Given the description of an element on the screen output the (x, y) to click on. 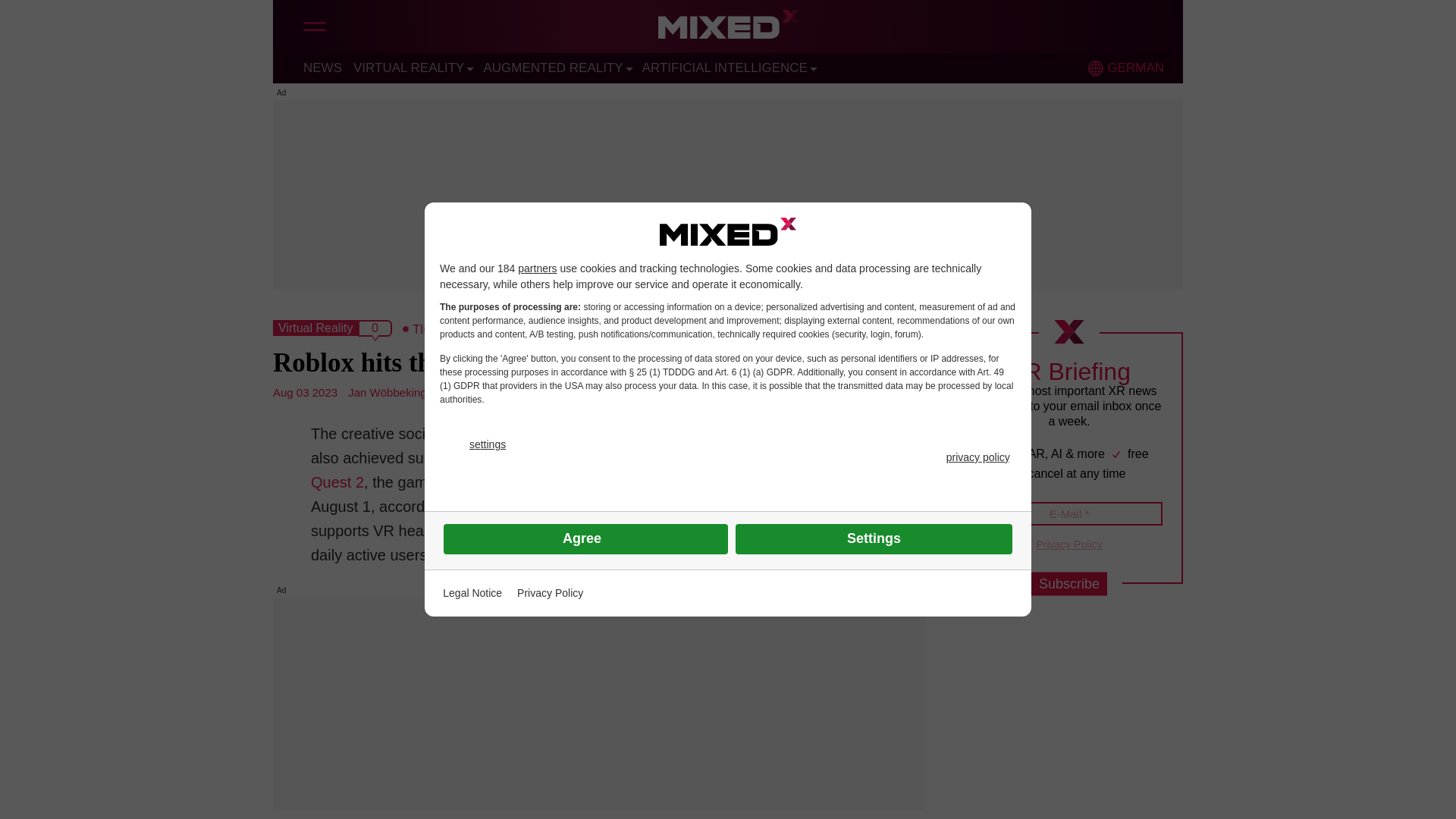
MIXED Reality News (727, 28)
german (1095, 68)
MIXED Reality News (727, 28)
Aug 03 2023 (305, 391)
NEWS (322, 67)
Subscribe (1068, 584)
VIRTUAL REALITY (408, 67)
ARTIFICIAL INTELLIGENCE (725, 67)
AUGMENTED REALITY (553, 67)
